Given the description of an element on the screen output the (x, y) to click on. 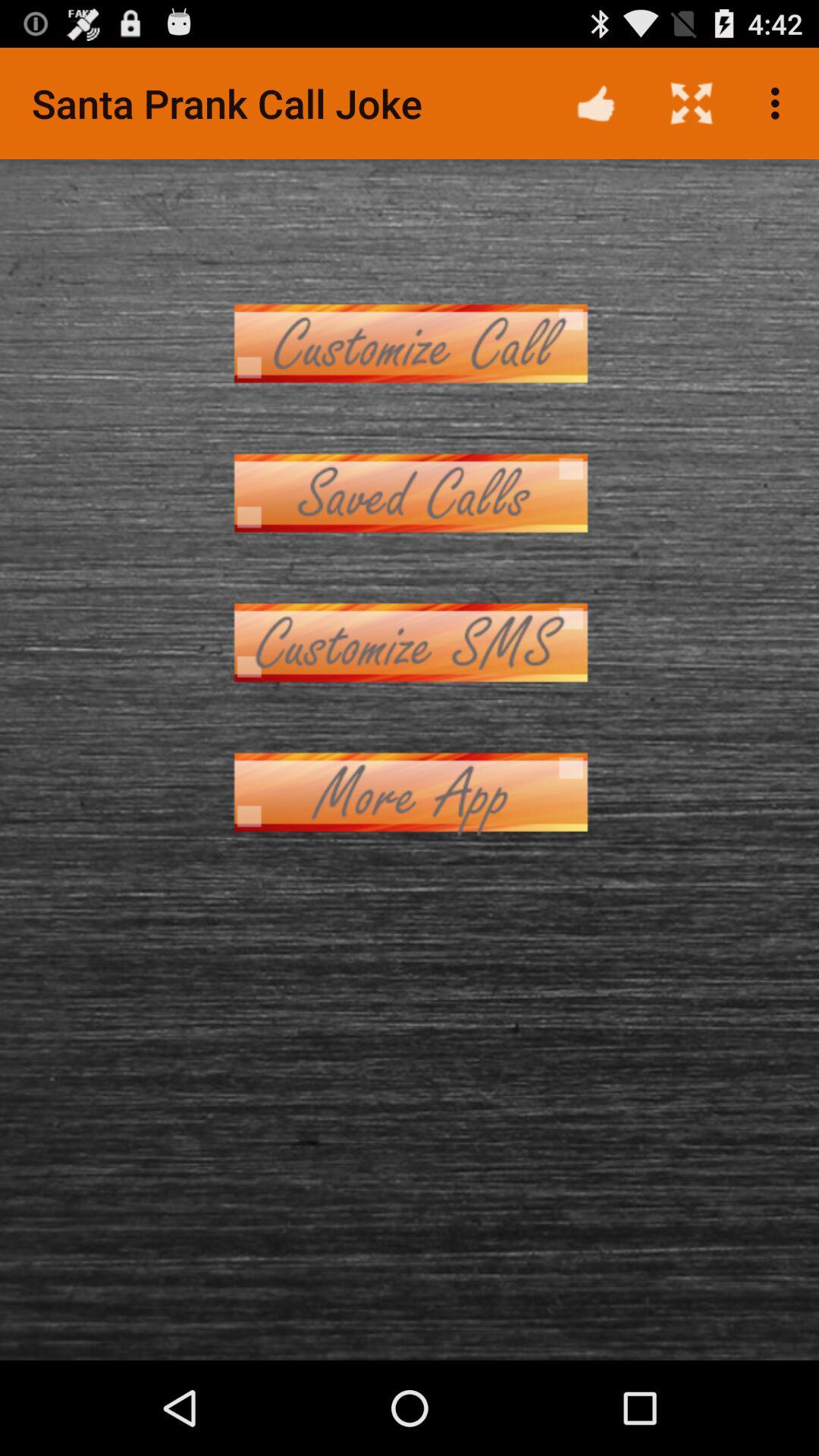
customize sms (409, 642)
